Given the description of an element on the screen output the (x, y) to click on. 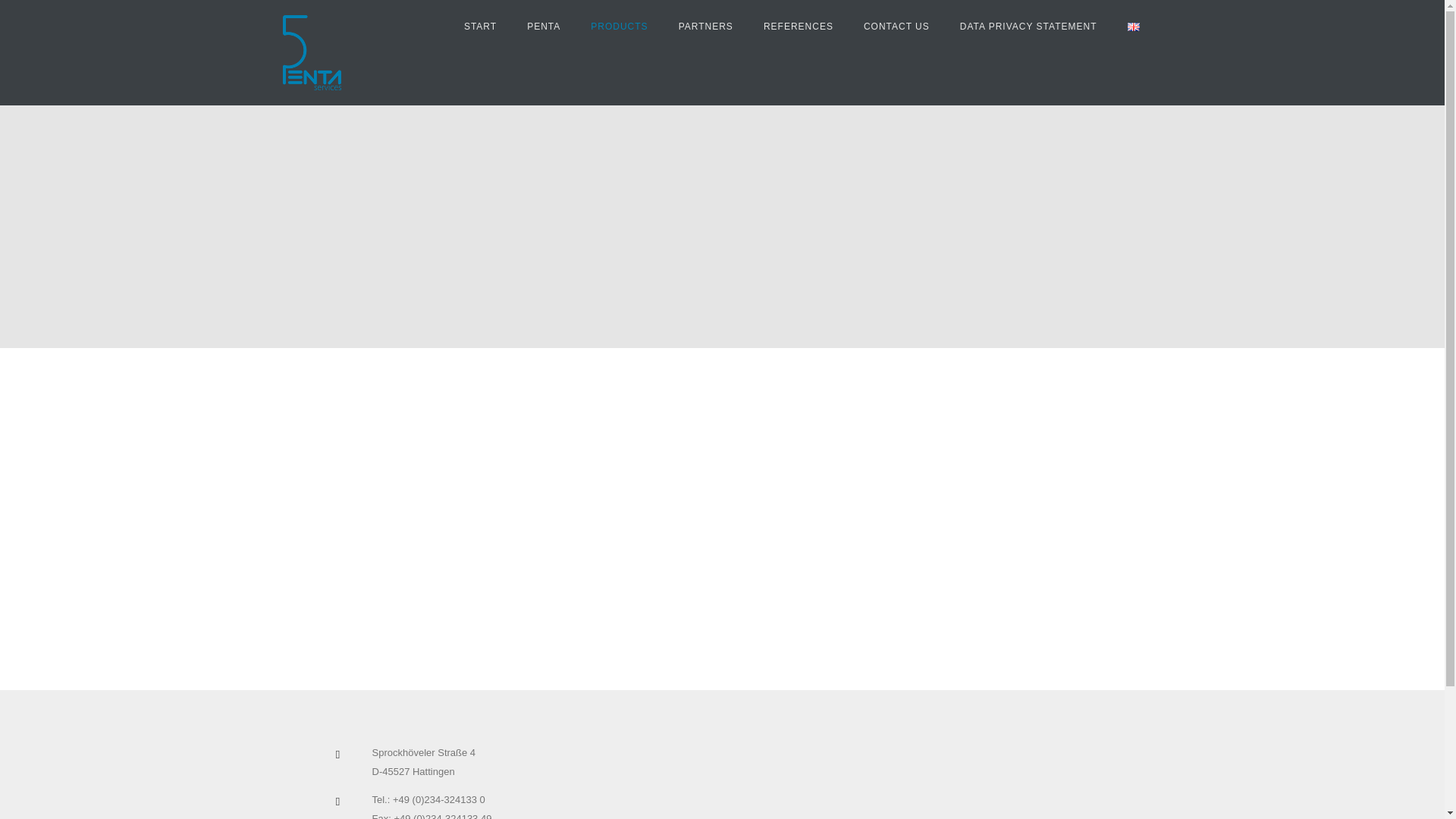
REFERENCES (798, 26)
PARTNERS (705, 26)
PRODUCTS (618, 26)
DATA PRIVACY STATEMENT (1028, 26)
CONTACT US (896, 26)
START (480, 26)
PENTA (543, 26)
English (1132, 26)
